Given the description of an element on the screen output the (x, y) to click on. 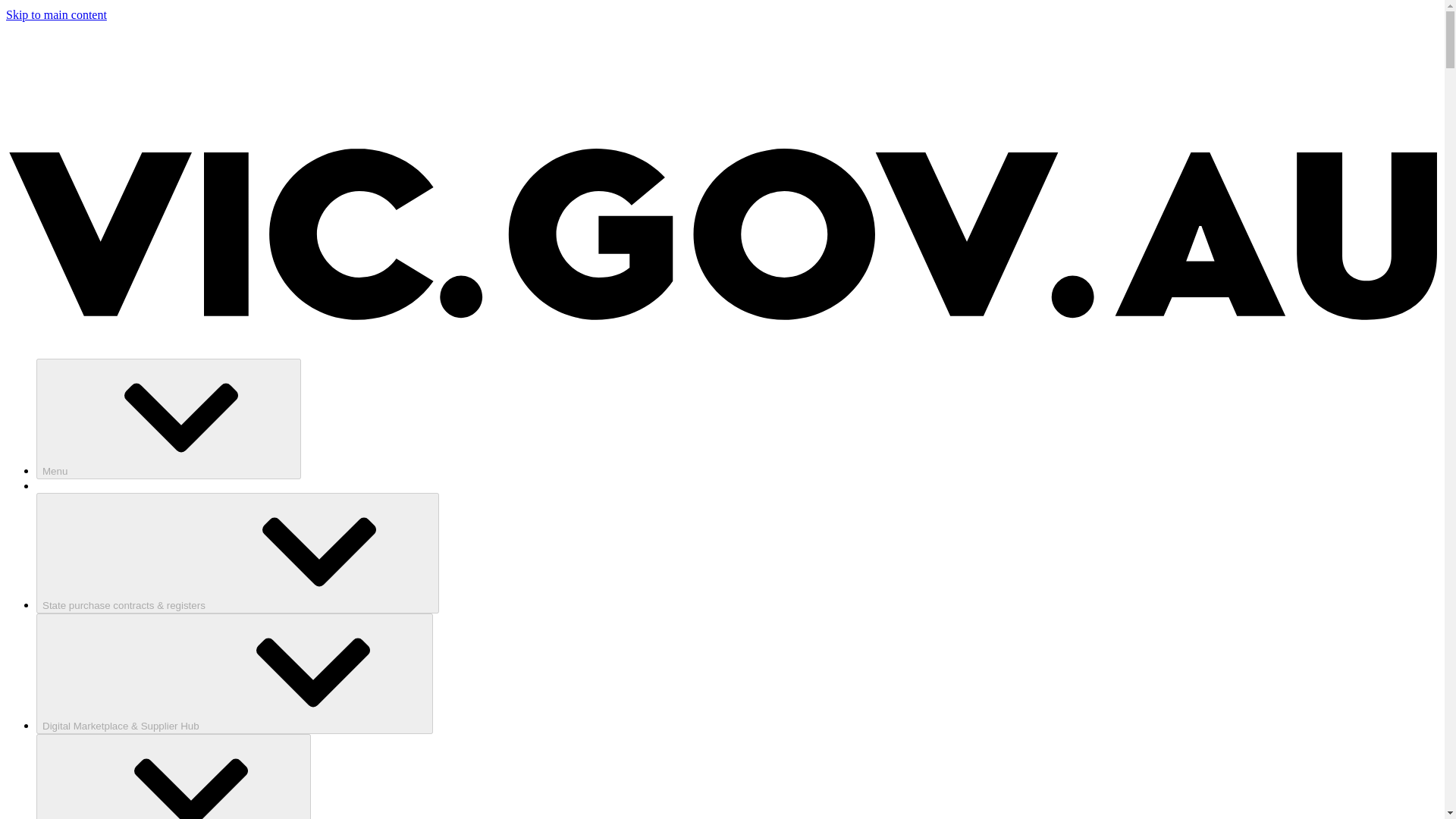
Skip to main content (55, 14)
